Given the description of an element on the screen output the (x, y) to click on. 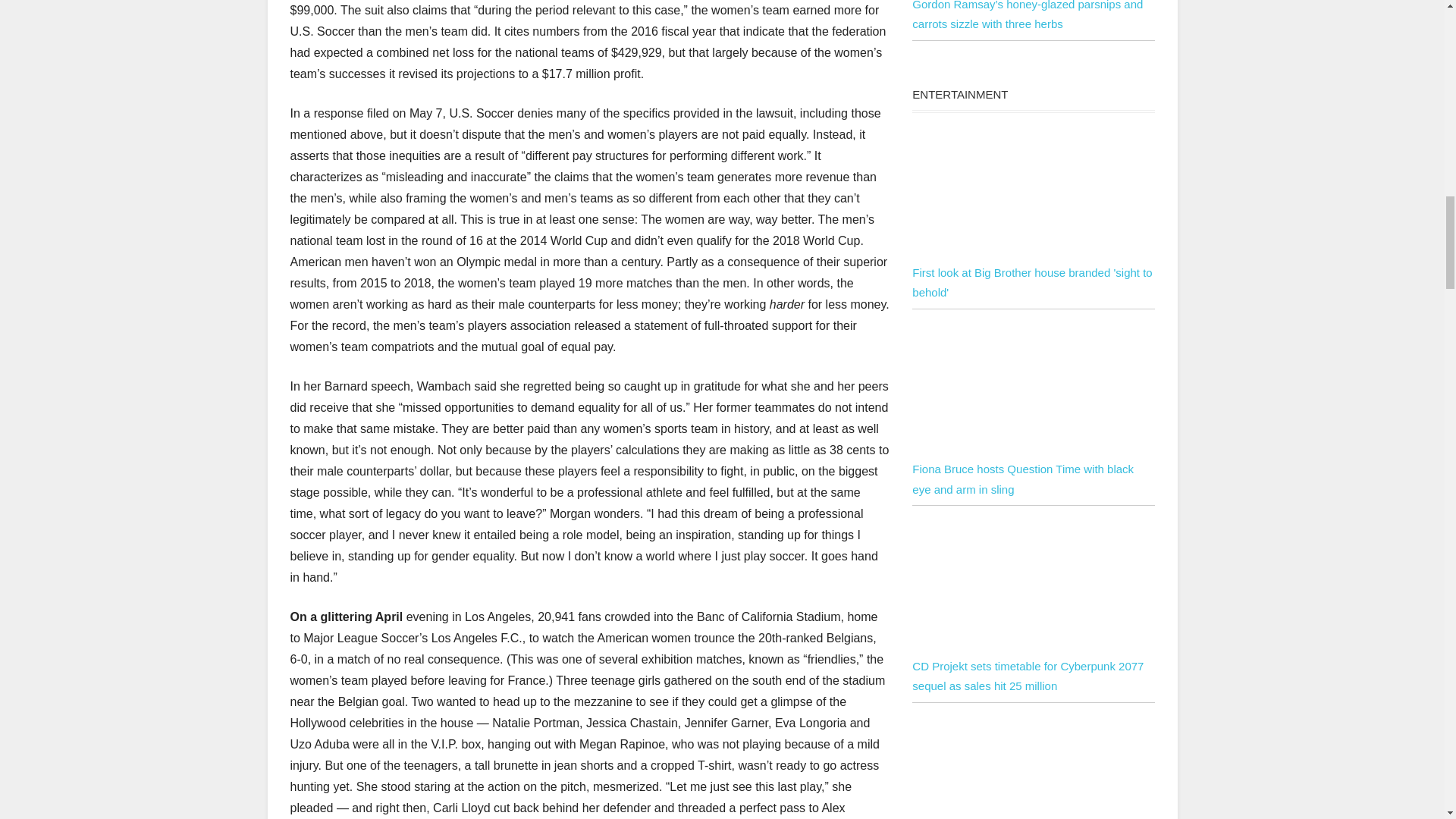
First look at Big Brother house branded 'sight to behold' (1033, 193)
First look at Big Brother house branded 'sight to behold' (1031, 282)
First look at Big Brother house branded 'sight to behold' (1033, 252)
